Given the description of an element on the screen output the (x, y) to click on. 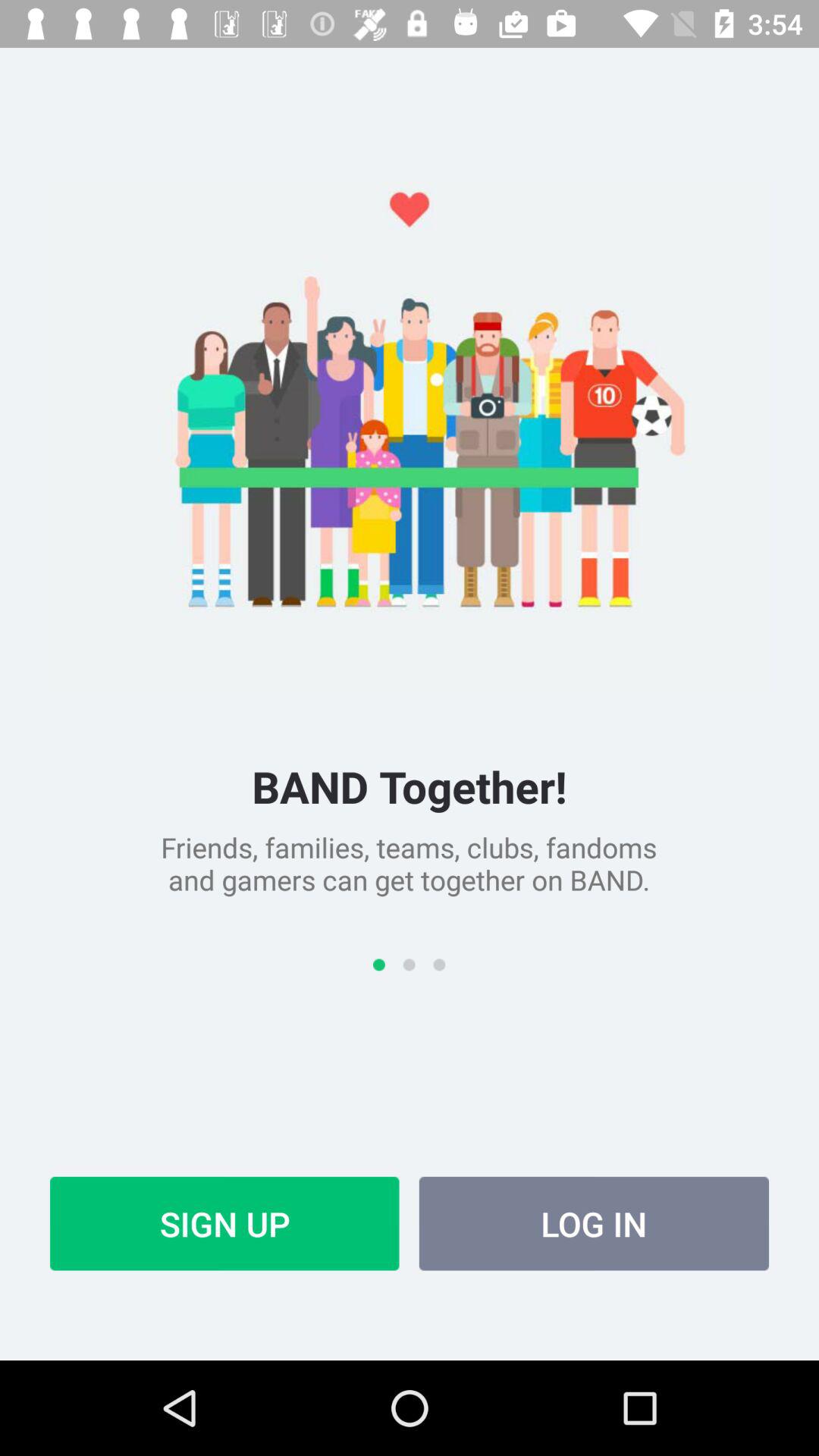
open the sign up (224, 1223)
